Given the description of an element on the screen output the (x, y) to click on. 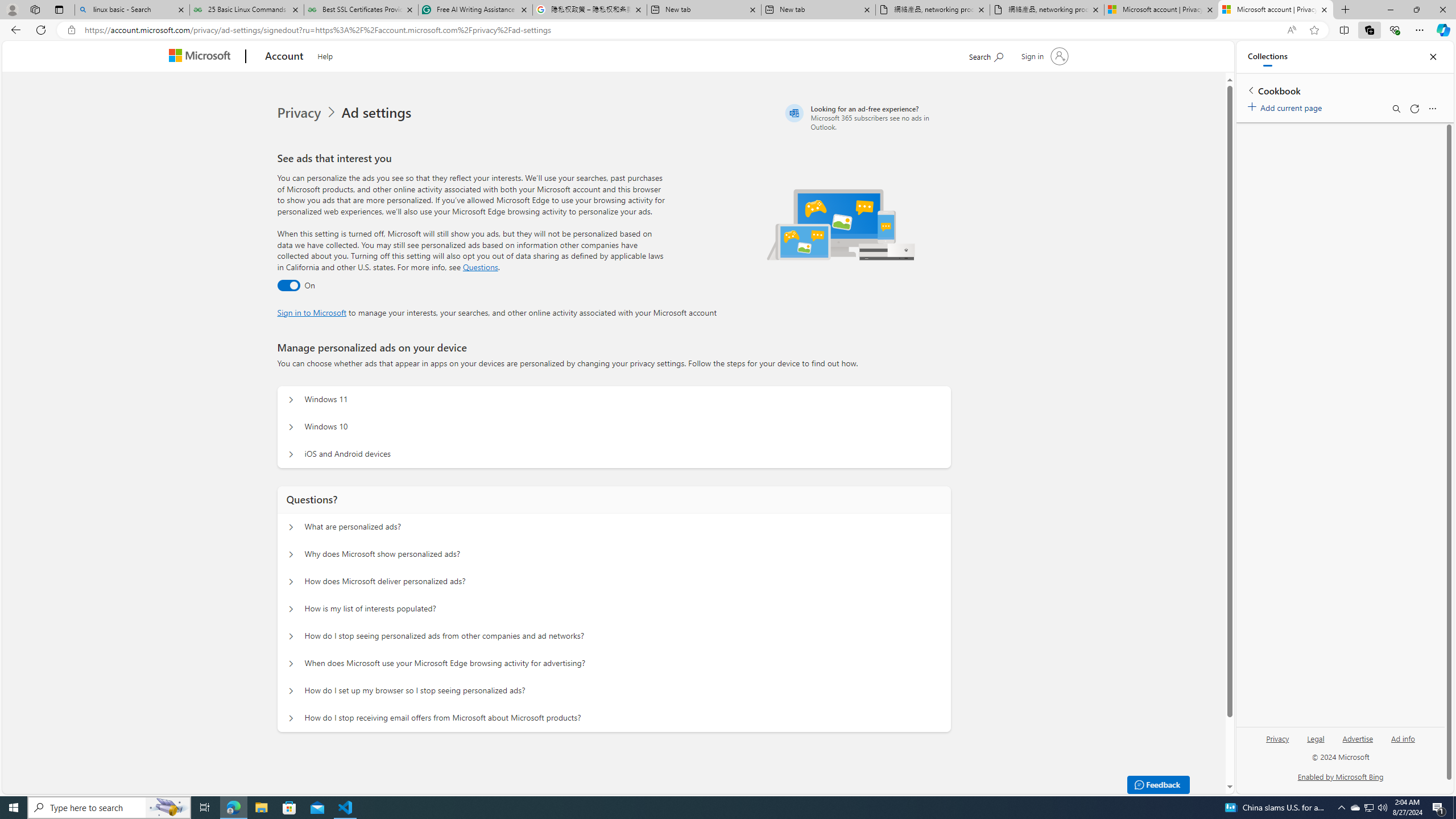
Best SSL Certificates Provider in India - GeeksforGeeks (360, 9)
Advertise (1357, 738)
Account (283, 56)
linux basic - Search (132, 9)
Back to list of collections (1250, 90)
